Given the description of an element on the screen output the (x, y) to click on. 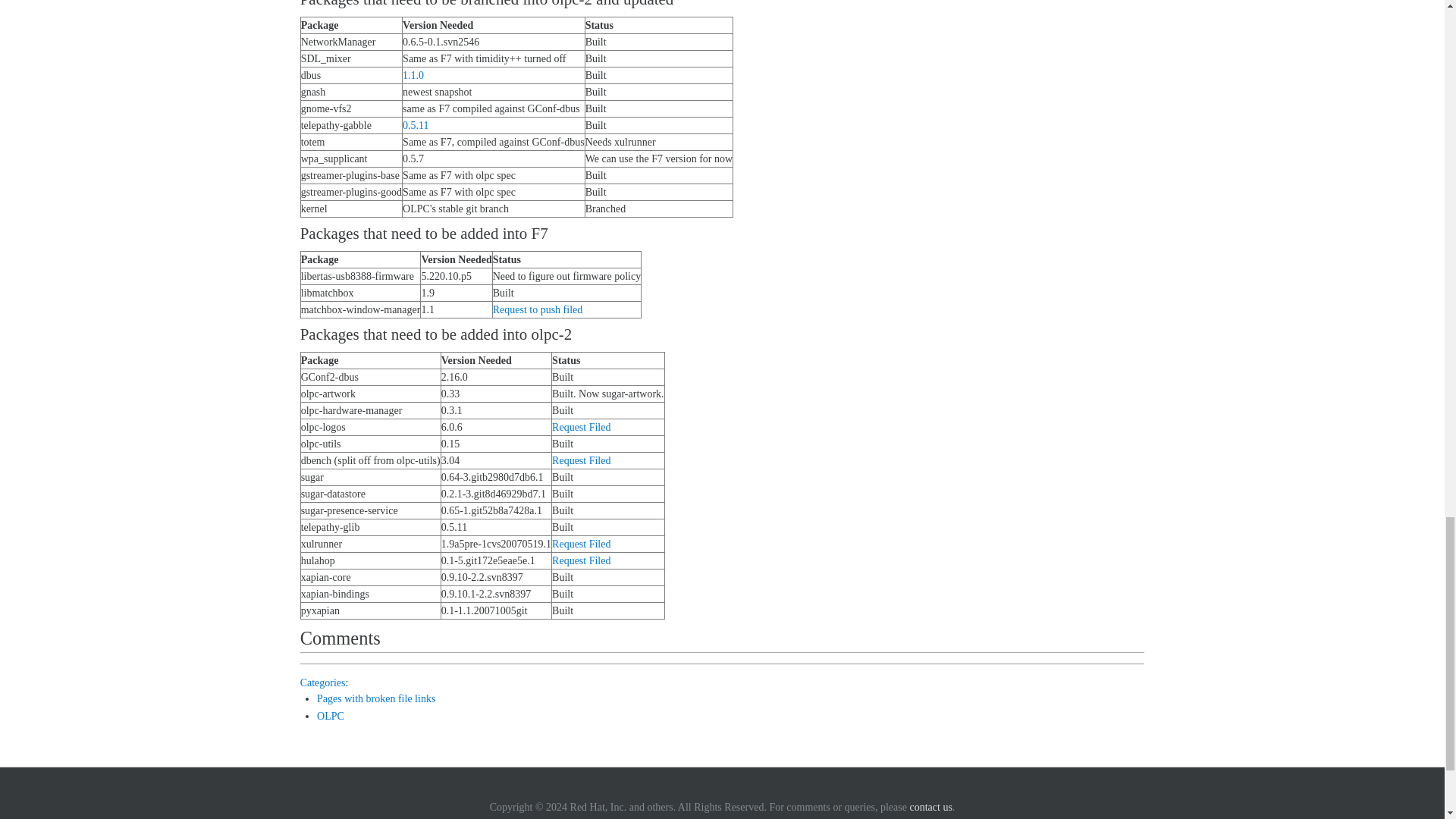
Category:OLPC (330, 715)
Special:Categories (322, 682)
